Given the description of an element on the screen output the (x, y) to click on. 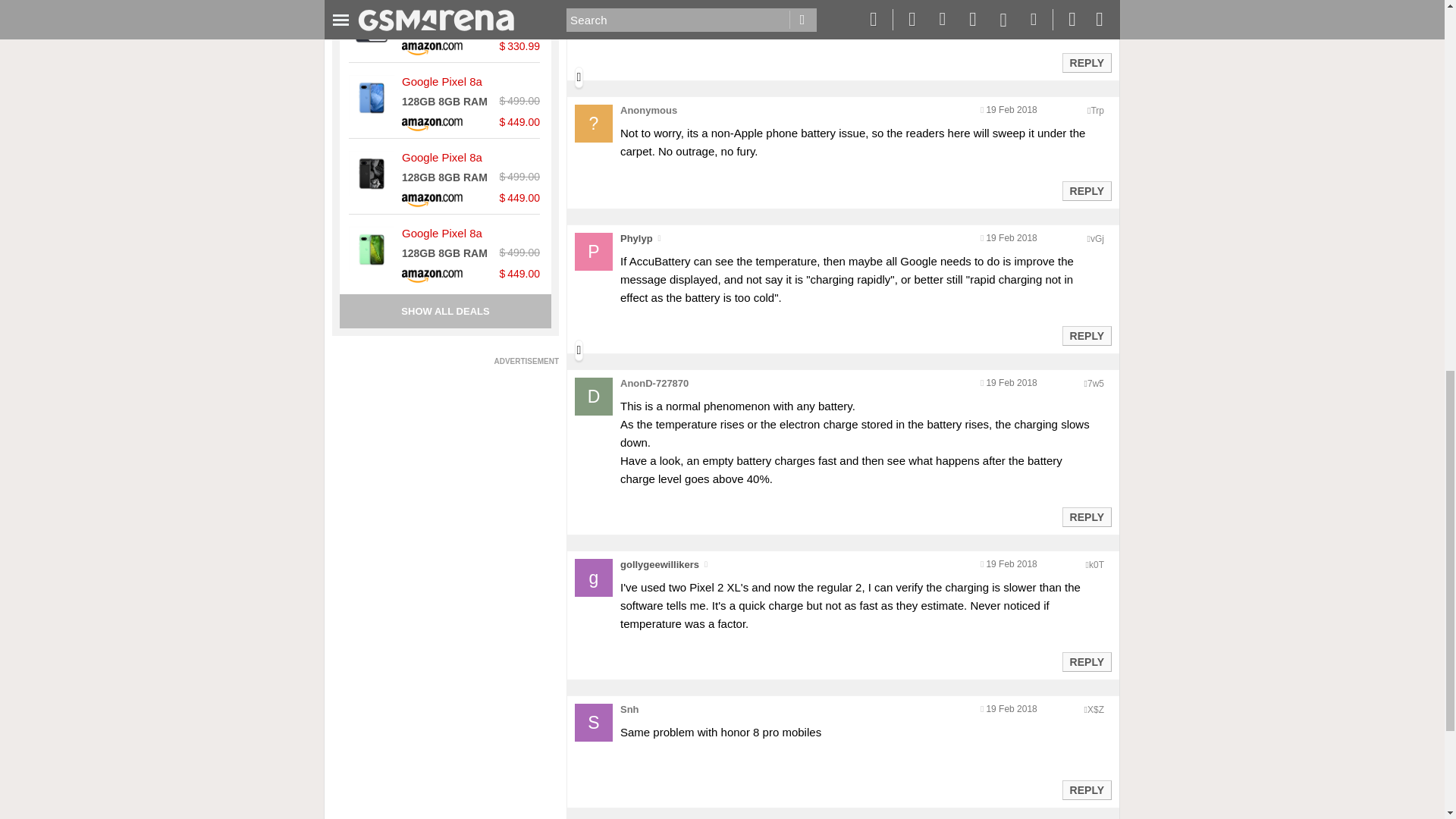
Encoded anonymized location (1096, 238)
Reply to this post (1086, 191)
Encoded anonymized location (1095, 709)
Encoded anonymized location (1096, 564)
Reply to this post (1086, 662)
Reply to this post (1086, 336)
Reply to this post (1086, 517)
Reply to this post (1086, 62)
Reply to this post (1086, 789)
Encoded anonymized location (1096, 110)
Encoded anonymized location (1095, 383)
